Given the description of an element on the screen output the (x, y) to click on. 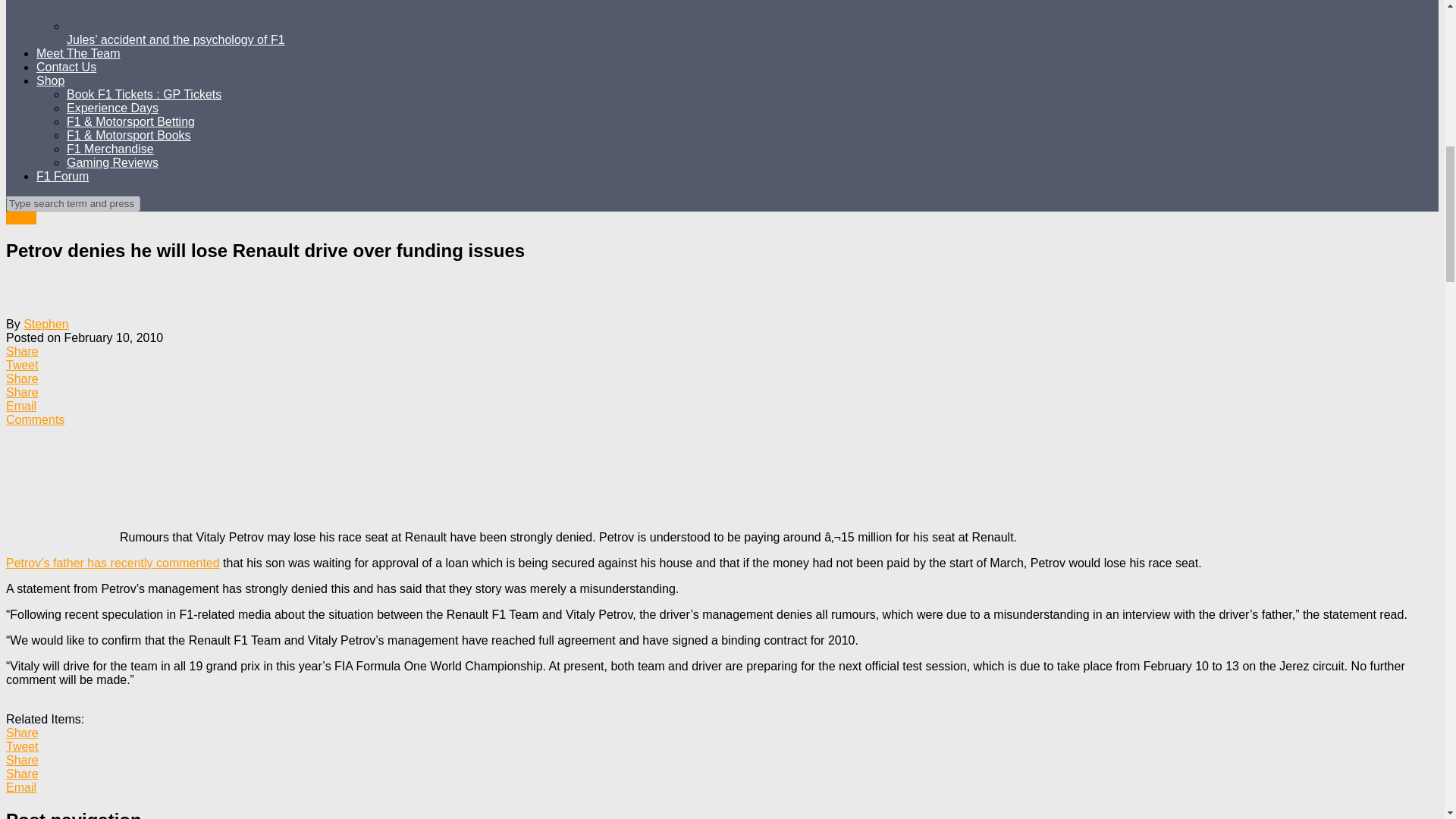
F1 Merchandise (110, 148)
Gaming Reviews (112, 162)
Contact Us (66, 66)
Meet The Team (78, 52)
Type search term and press enter (72, 203)
Book F1 Tickets : GP Tickets (143, 93)
F1 Forum (62, 175)
Shop (50, 80)
Posts by Stephen (45, 323)
Petrov to lose Renault drive? (112, 562)
Experience Days (112, 107)
